Given the description of an element on the screen output the (x, y) to click on. 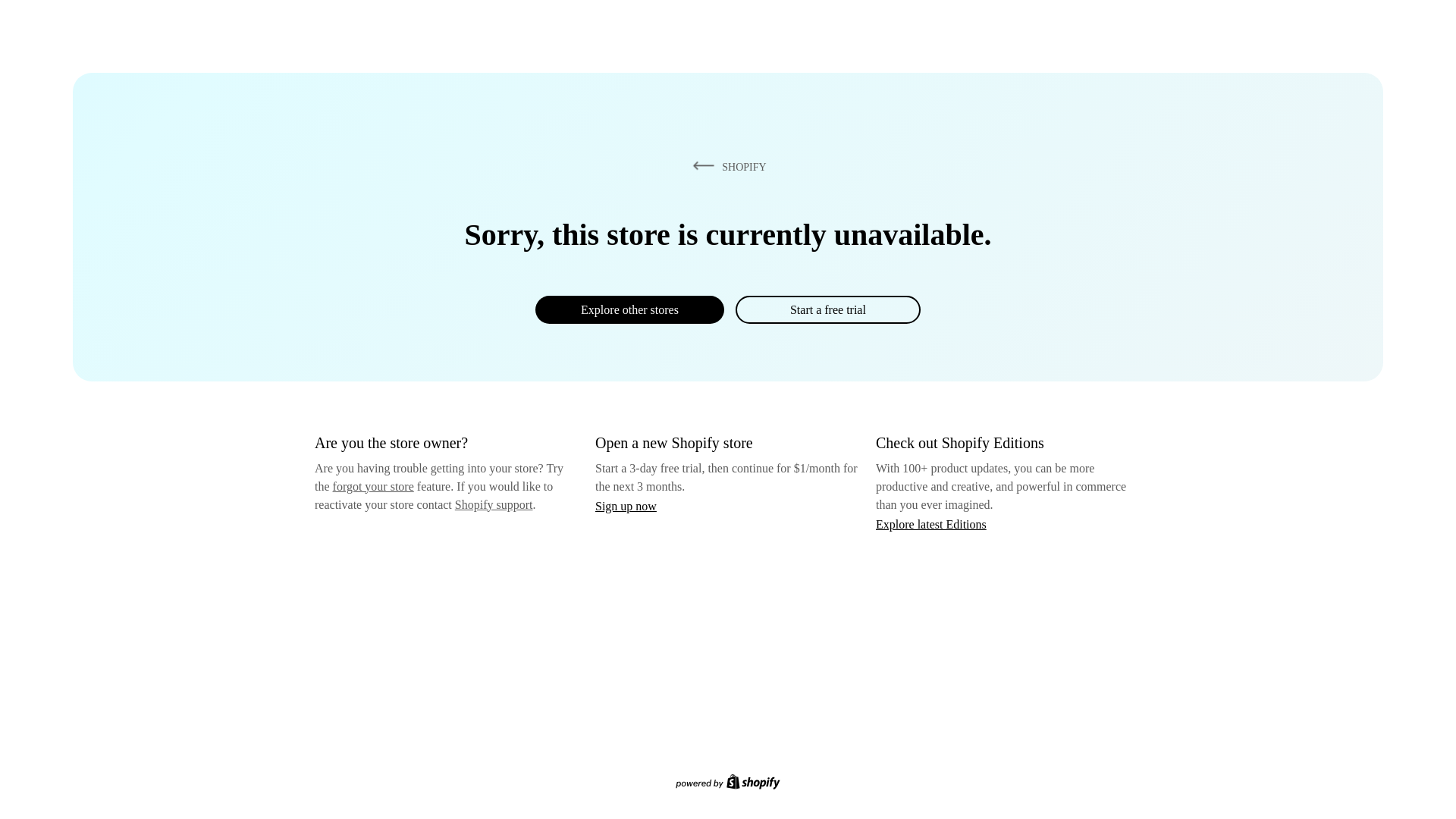
Explore other stores (629, 309)
Shopify support (493, 504)
forgot your store (373, 486)
SHOPIFY (726, 166)
Sign up now (625, 505)
Start a free trial (827, 309)
Explore latest Editions (931, 523)
